Given the description of an element on the screen output the (x, y) to click on. 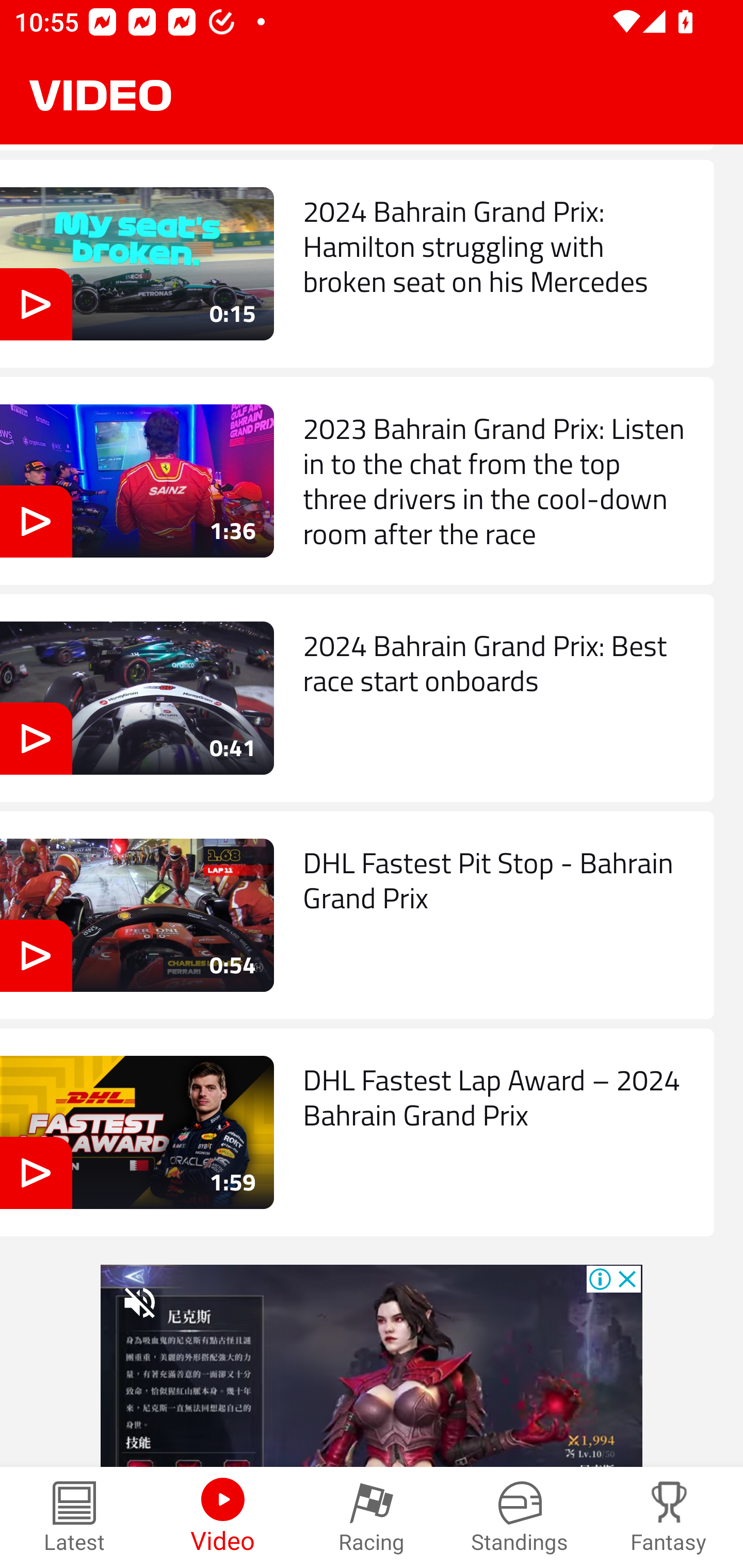
0:54 DHL Fastest Pit Stop - Bahrain Grand Prix (357, 914)
Latest (74, 1517)
Racing (371, 1517)
Standings (519, 1517)
Fantasy (668, 1517)
